Given the description of an element on the screen output the (x, y) to click on. 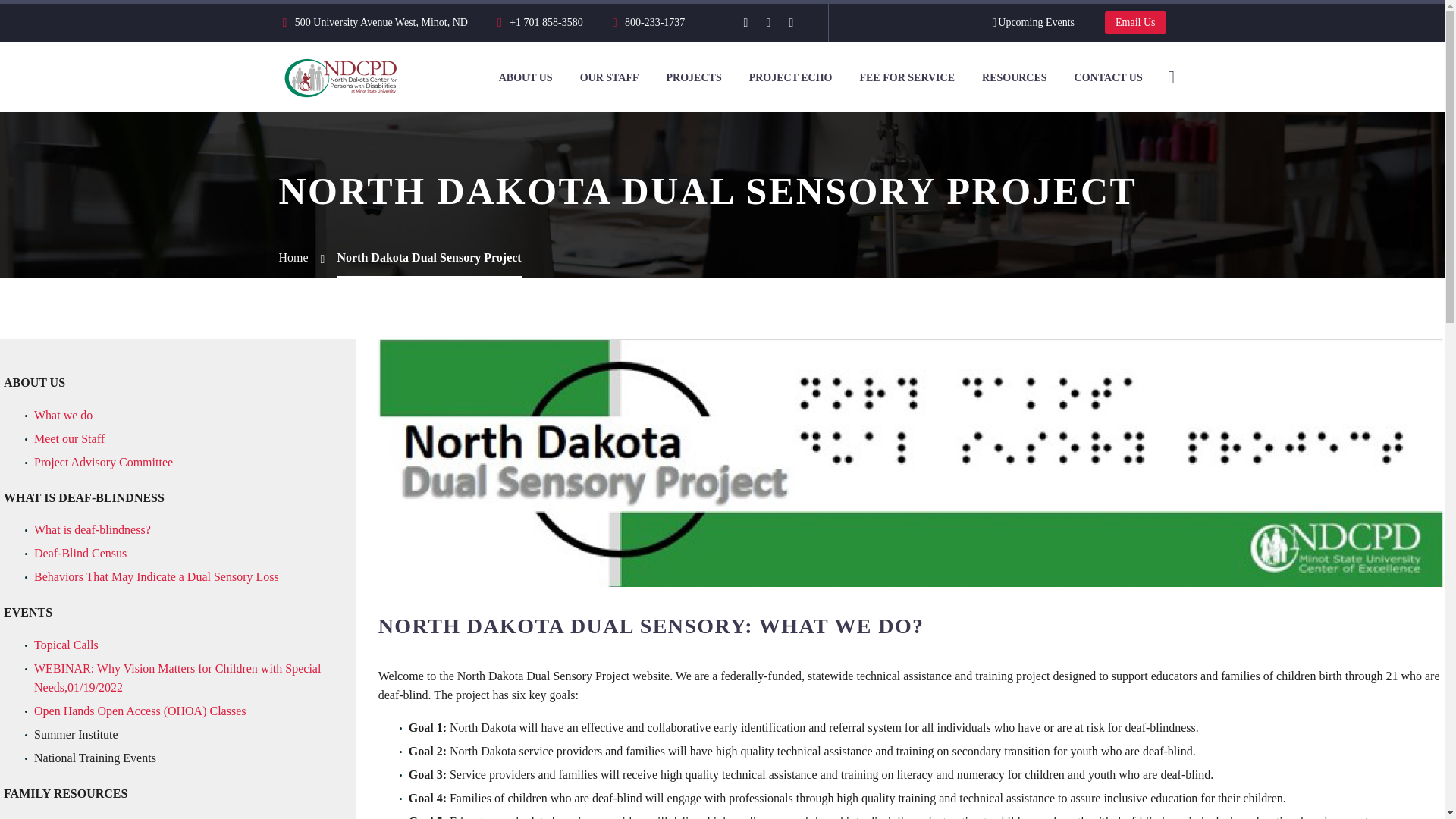
YouTube (790, 22)
RESOURCES (1014, 76)
Twitter (767, 22)
CONTACT US (1108, 76)
PROJECT ECHO (791, 76)
Meet our Staff (68, 438)
ABOUT US (525, 76)
What we do (63, 414)
Home (293, 256)
Email Us (1135, 22)
